Given the description of an element on the screen output the (x, y) to click on. 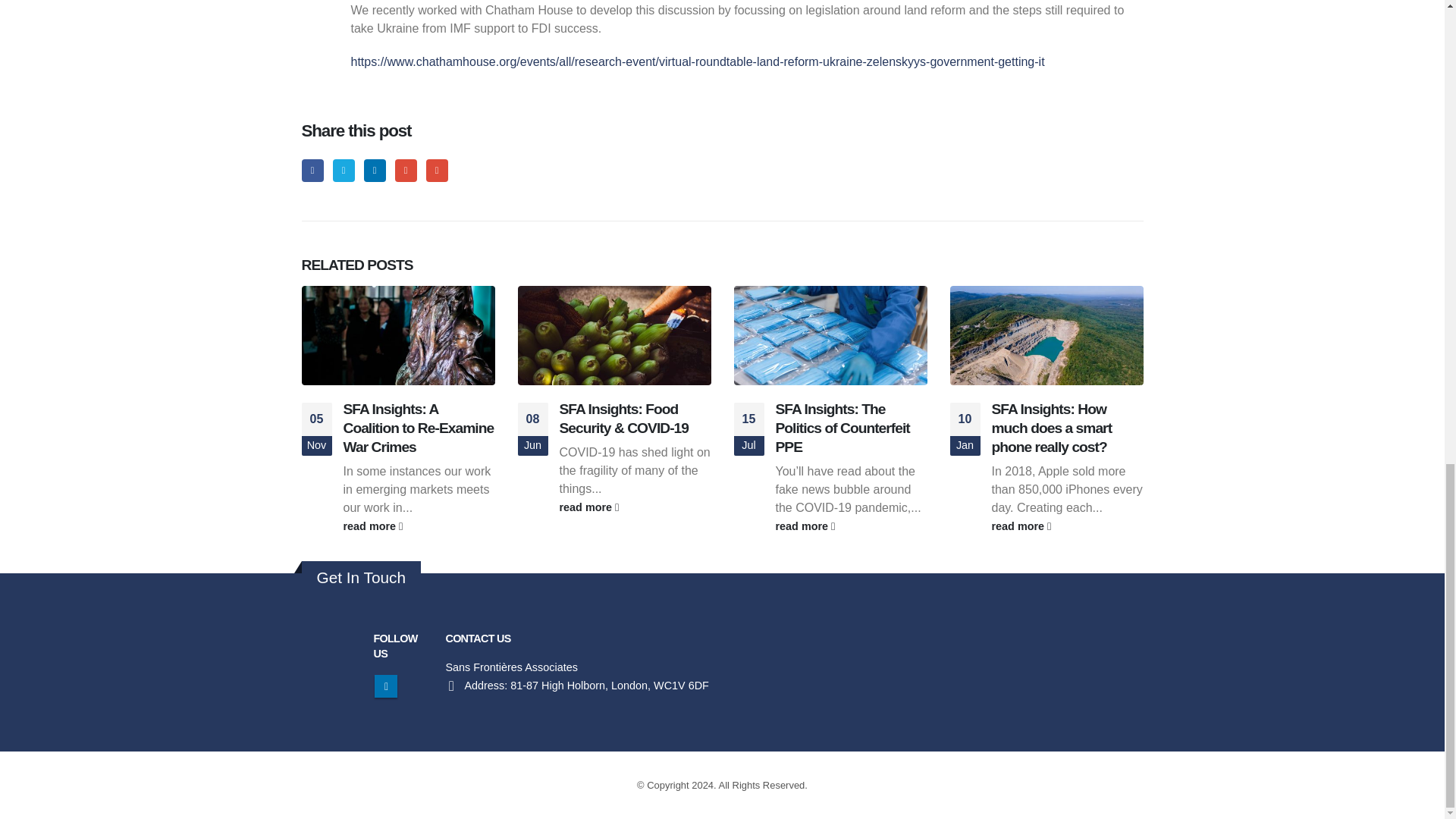
read more (850, 525)
Facebook (312, 169)
read more (418, 525)
SFA Insights: A Coalition to Re-Examine War Crimes (417, 428)
Facebook (312, 169)
LinkedIn (374, 169)
SFA Insights: The Politics of Counterfeit PPE (841, 428)
Twitter (344, 169)
Linkedin (385, 685)
read more (635, 506)
